Given the description of an element on the screen output the (x, y) to click on. 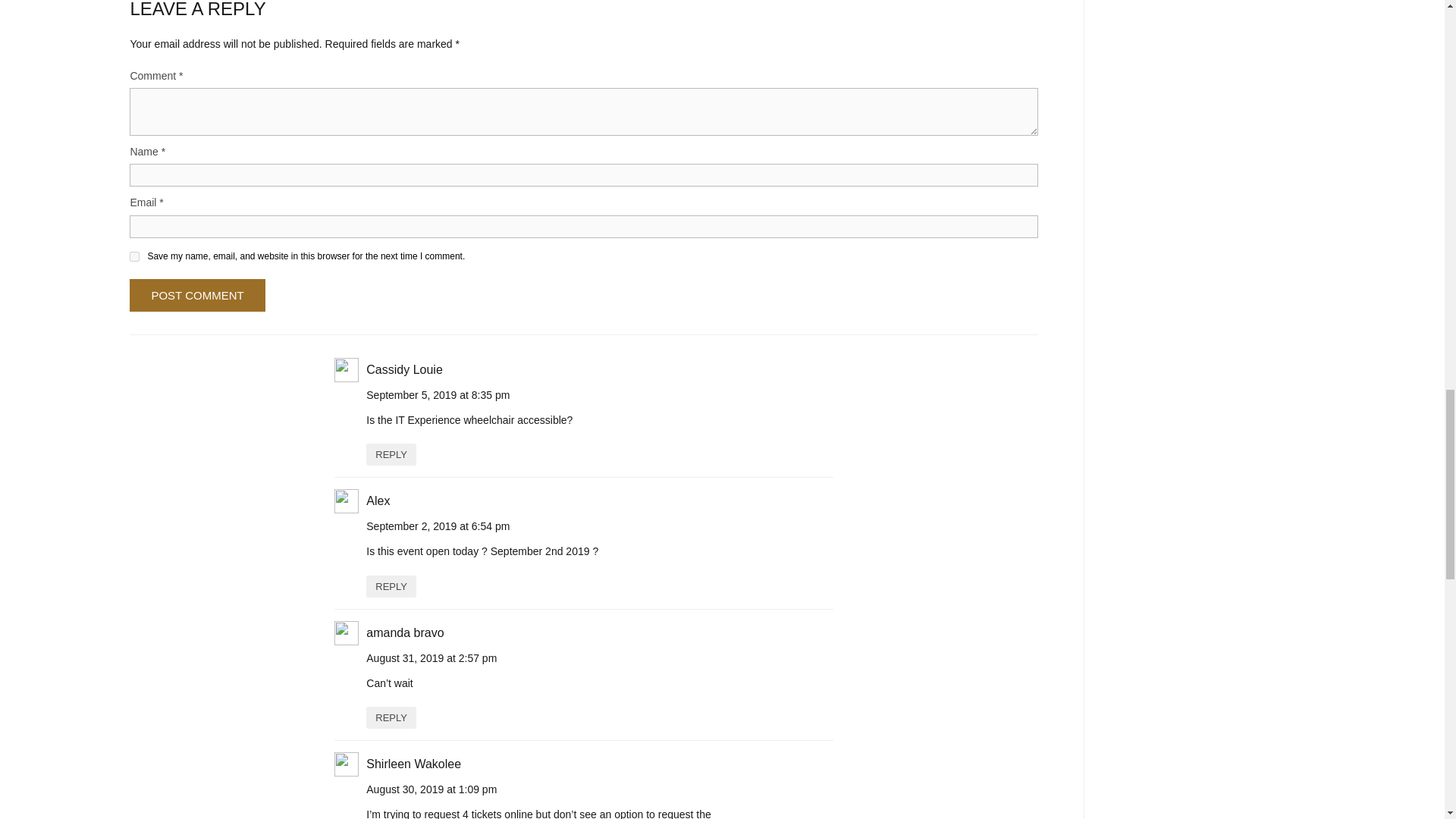
Post Comment (196, 295)
REPLY (391, 717)
August 30, 2019 at 1:09 pm (431, 788)
September 5, 2019 at 8:35 pm (437, 395)
September 2, 2019 at 6:54 pm (437, 526)
August 31, 2019 at 2:57 pm (431, 657)
REPLY (391, 454)
yes (134, 256)
REPLY (391, 586)
Post Comment (196, 295)
